Given the description of an element on the screen output the (x, y) to click on. 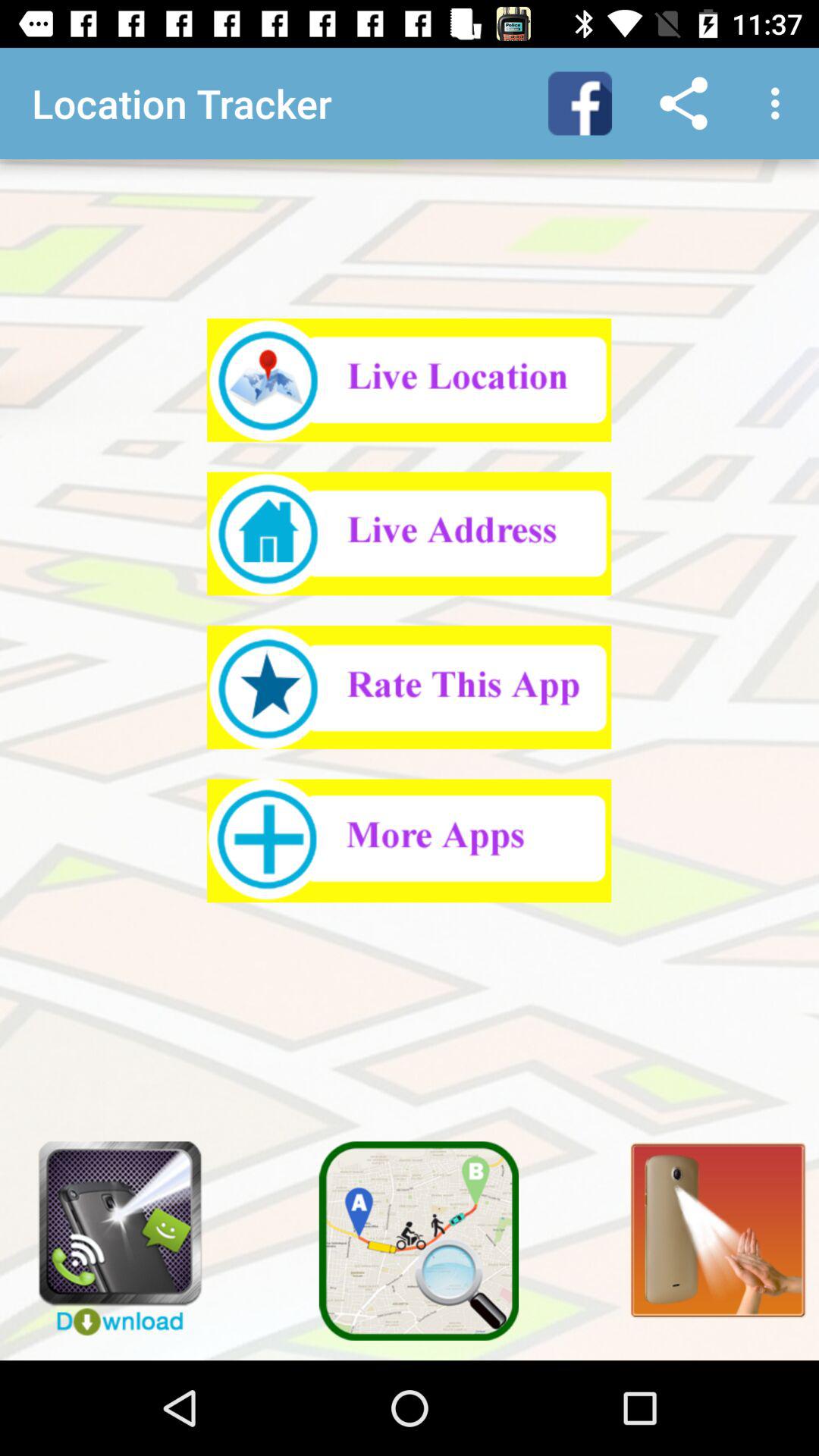
rate the app (409, 687)
